Given the description of an element on the screen output the (x, y) to click on. 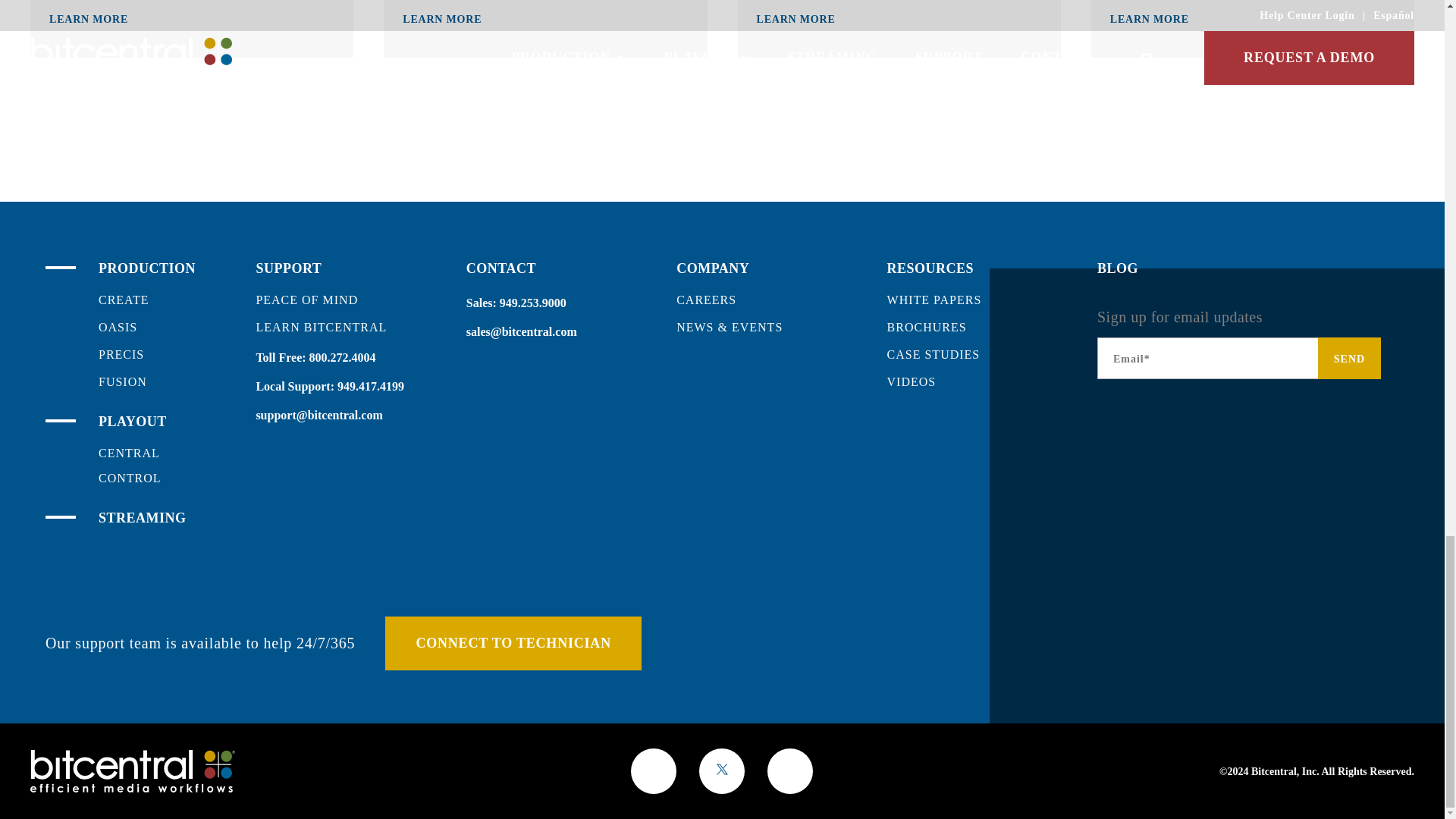
OASIS (117, 327)
PLAYOUT (133, 421)
CENTRAL CONTROL (130, 465)
Send (1348, 358)
PRECIS (121, 354)
FUSION (123, 381)
CREATE (123, 299)
PRODUCTION (147, 268)
